Given the description of an element on the screen output the (x, y) to click on. 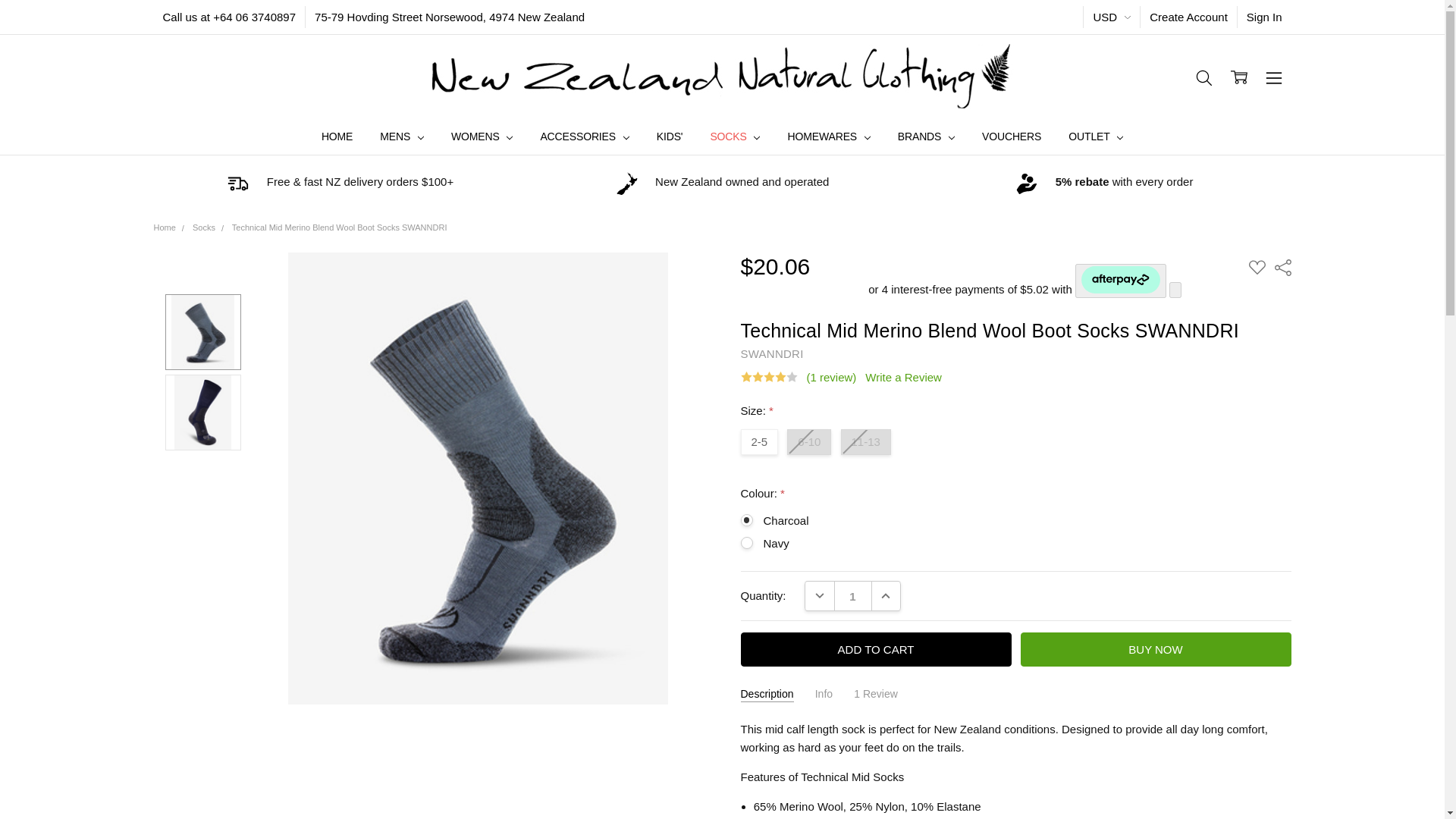
1 (852, 595)
75-79 Hovding Street Norsewood, 4974 New Zealand (449, 16)
New Zealand Natural Clothing LTD (722, 76)
Sign In (1264, 16)
Show All (743, 136)
Created by potrace 1.16, written by Peter Selinger 2001-2019 (627, 182)
USD (1111, 16)
Created by potrace 1.16, written by Peter Selinger 2001-2019 (237, 182)
Buy Now (1155, 649)
MENS (402, 135)
WOMENS (481, 135)
